Given the description of an element on the screen output the (x, y) to click on. 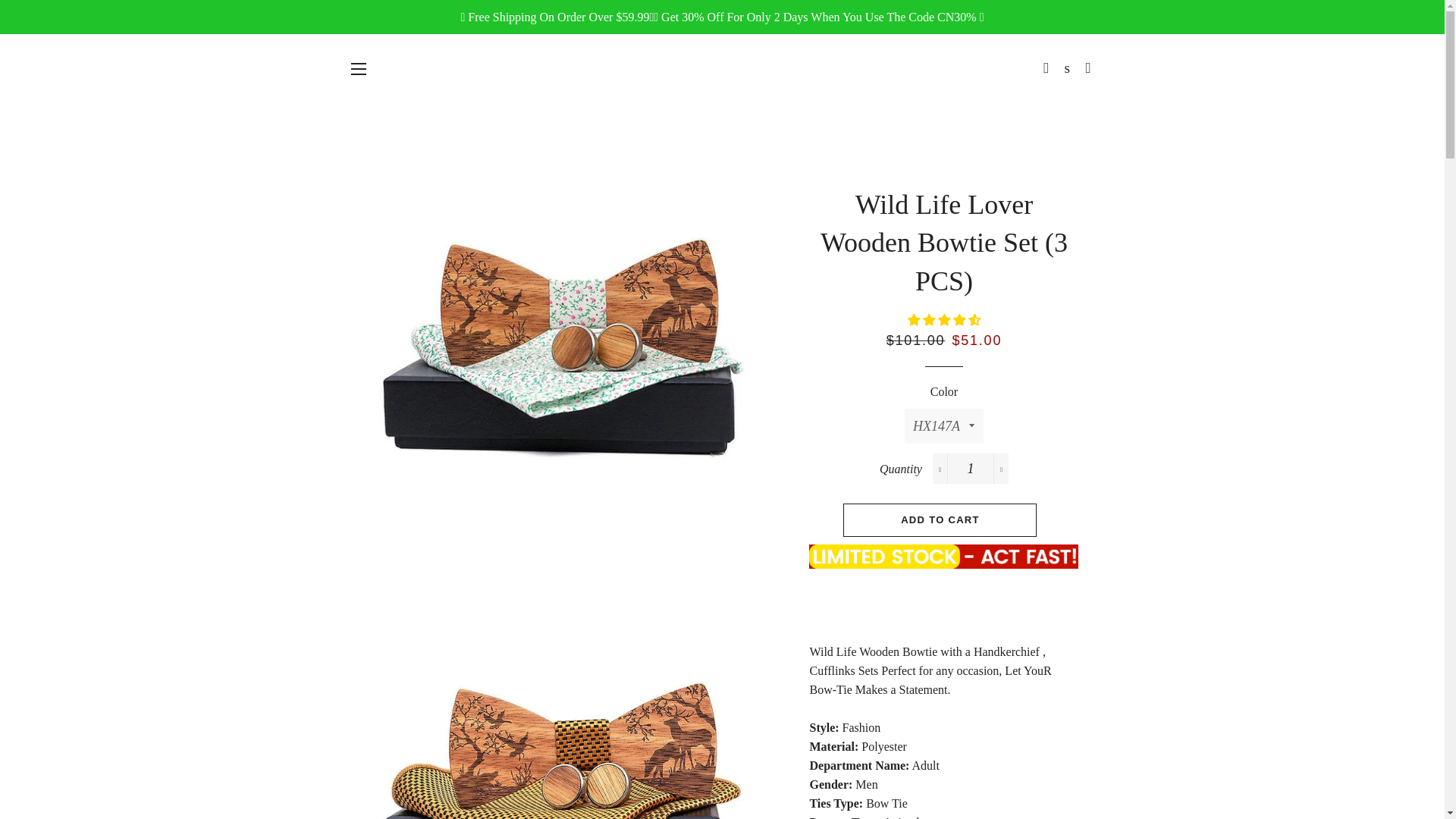
1 (971, 468)
SITE NAVIGATION (358, 68)
